Given the description of an element on the screen output the (x, y) to click on. 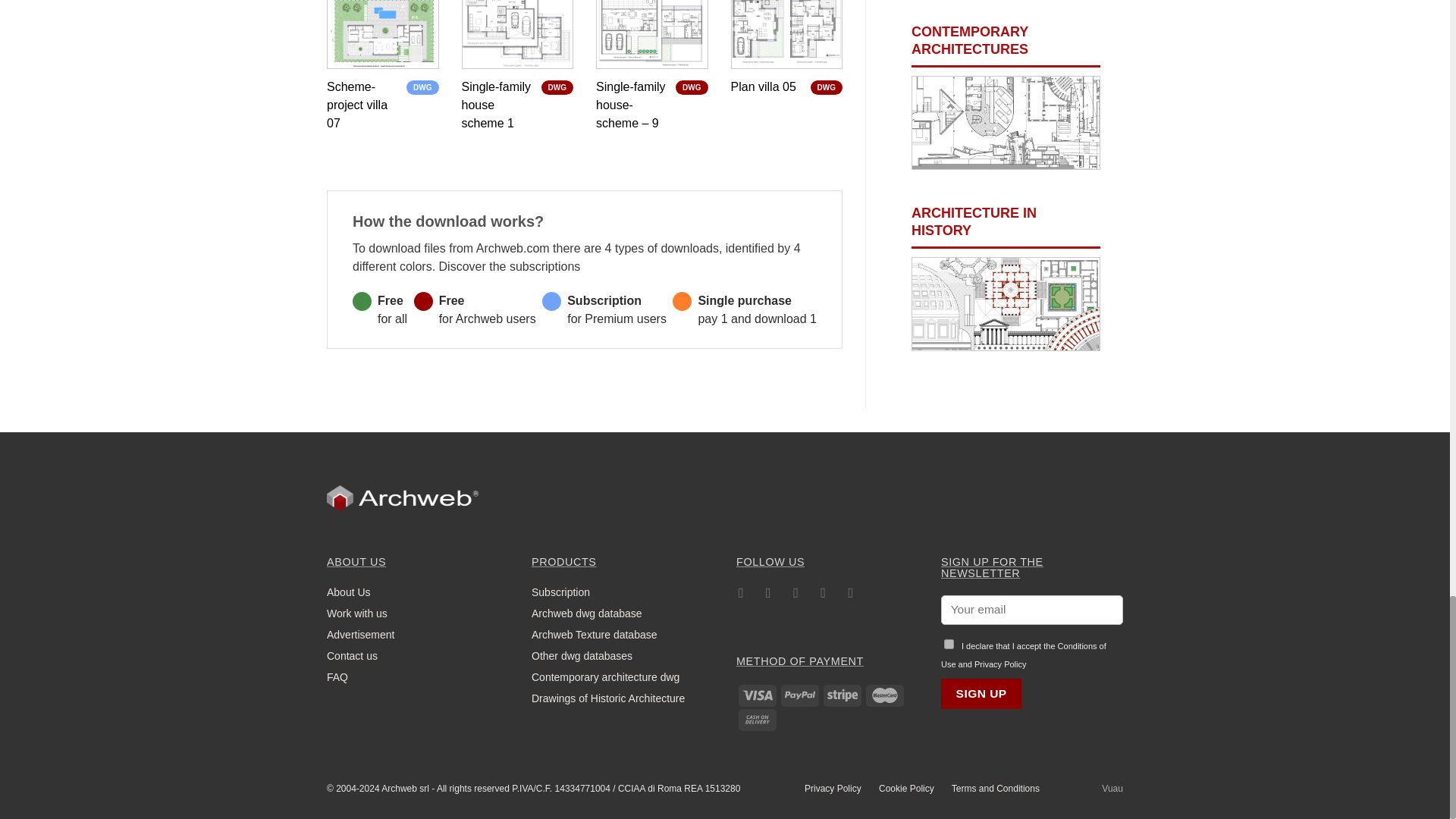
Follow on Facebook (741, 595)
Follow on LinkedIn (822, 595)
Follow on Instagram (767, 595)
Follow on X (795, 595)
Follow on YouTube (850, 595)
Sign up (981, 693)
on (948, 644)
